Given the description of an element on the screen output the (x, y) to click on. 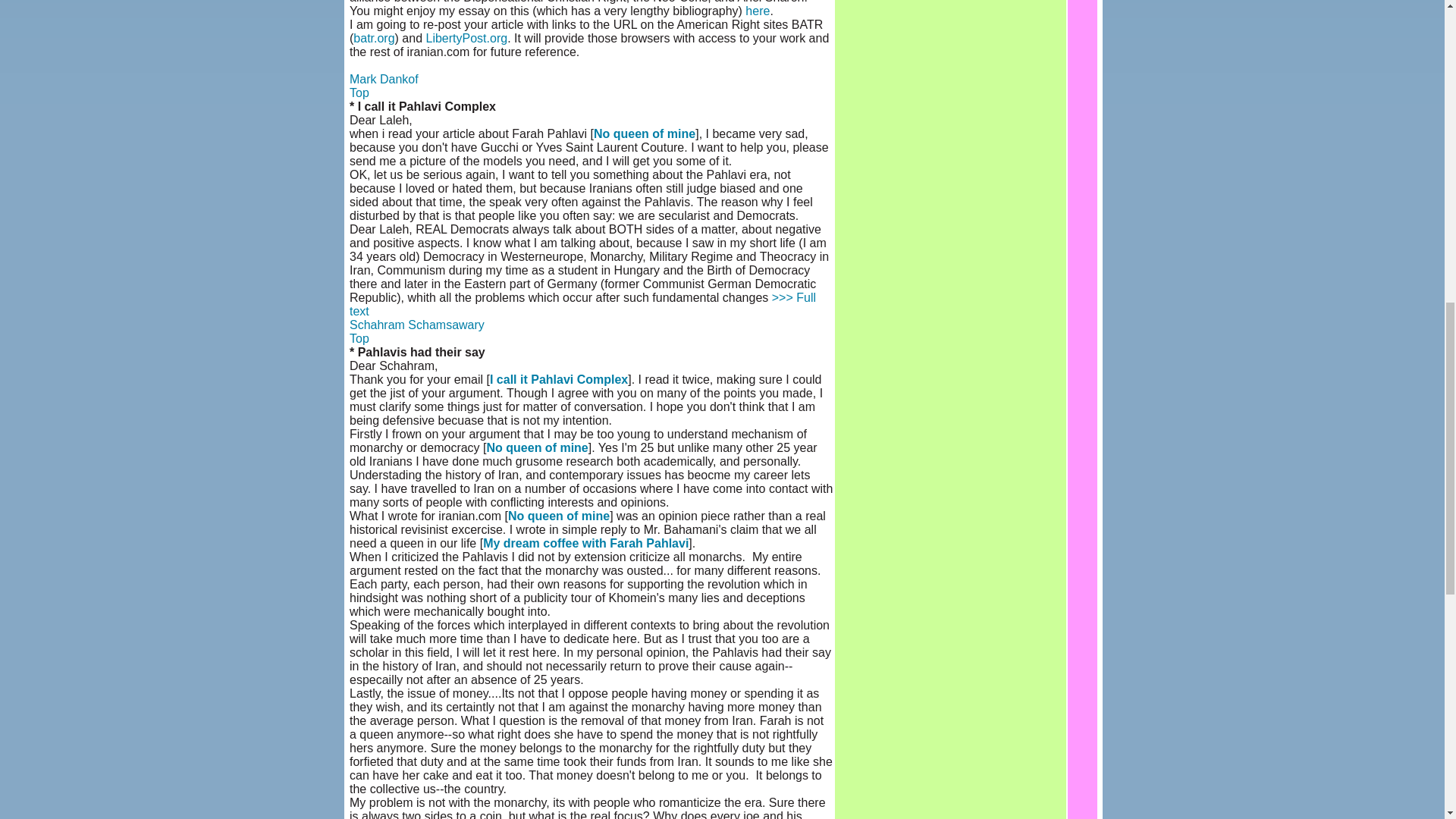
Top (359, 92)
batr.org (373, 38)
My dream coffee with Farah Pahlavi (585, 543)
Top (359, 338)
LibertyPost.org (467, 38)
here (757, 10)
I call it Pahlavi Complex (558, 379)
No queen of mine (537, 447)
No queen of mine (559, 515)
Mark Dankof (384, 78)
Schahram Schamsawary (416, 324)
No queen of mine (644, 133)
